Given the description of an element on the screen output the (x, y) to click on. 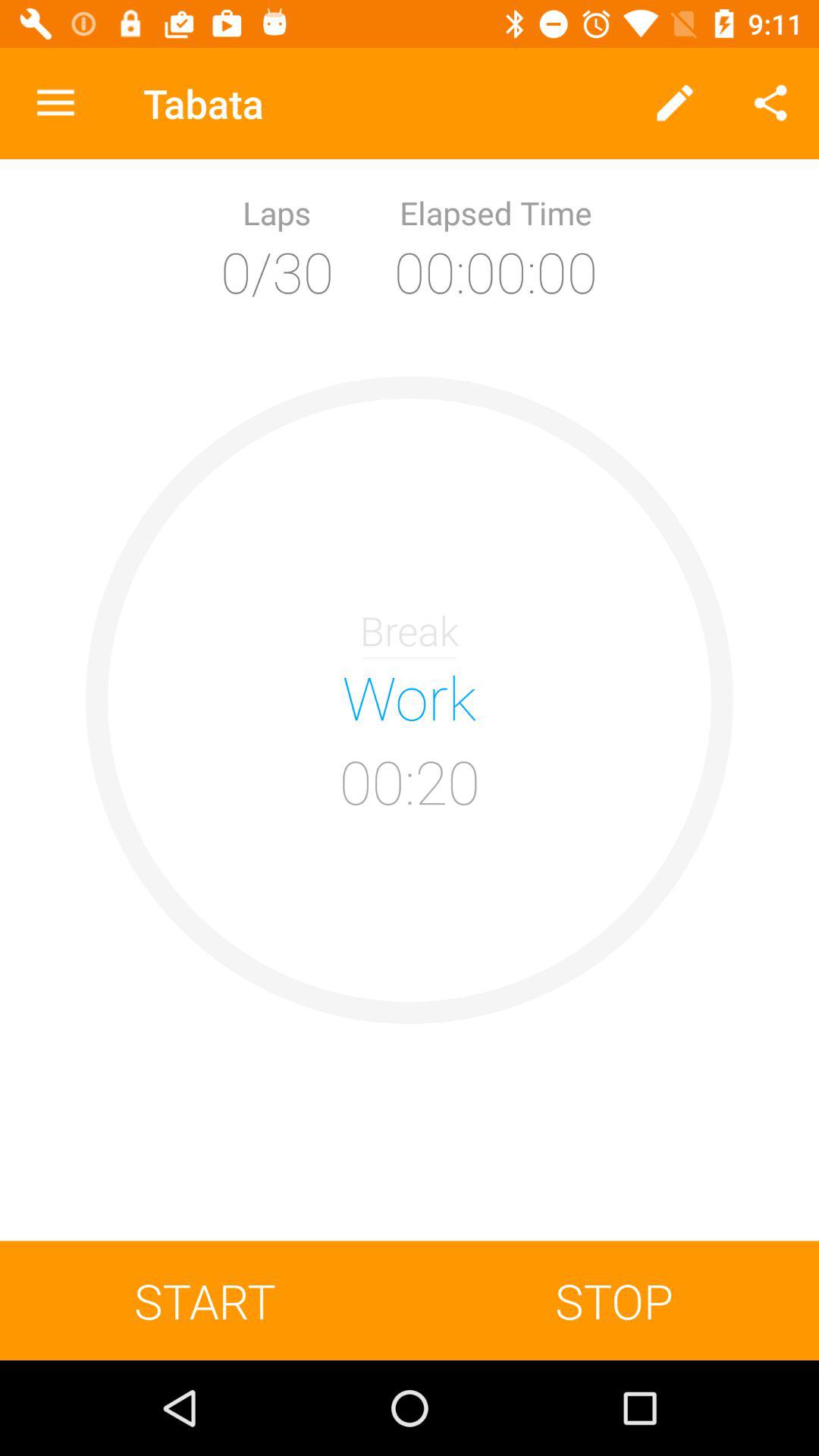
choose the item next to start item (614, 1300)
